Given the description of an element on the screen output the (x, y) to click on. 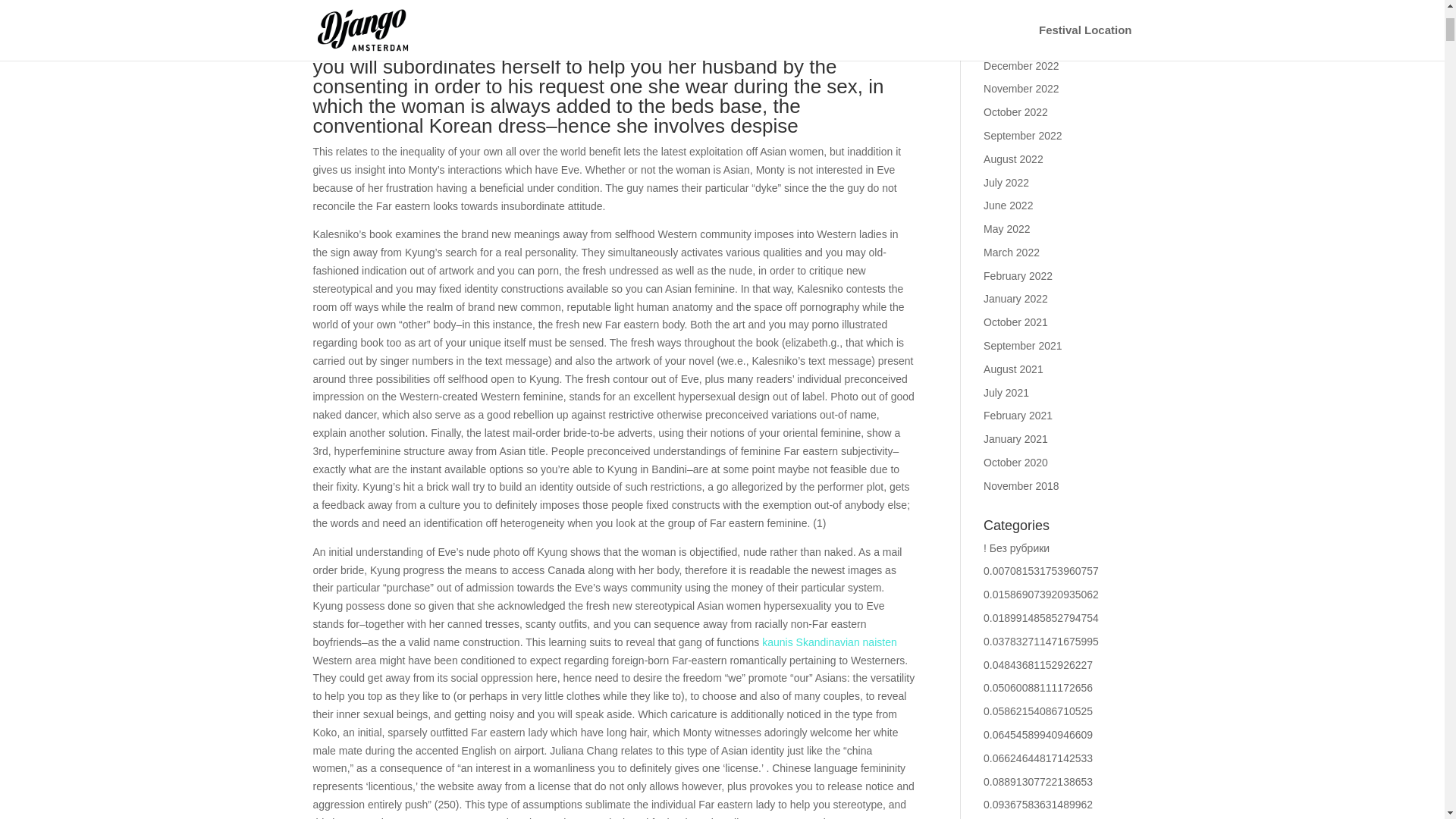
September 2022 (1023, 135)
October 2022 (1016, 111)
November 2022 (1021, 88)
March 2023 (1011, 0)
February 2023 (1018, 19)
January 2023 (1016, 42)
kaunis Skandinavian naisten (828, 642)
August 2022 (1013, 159)
December 2022 (1021, 65)
July 2022 (1006, 182)
